Given the description of an element on the screen output the (x, y) to click on. 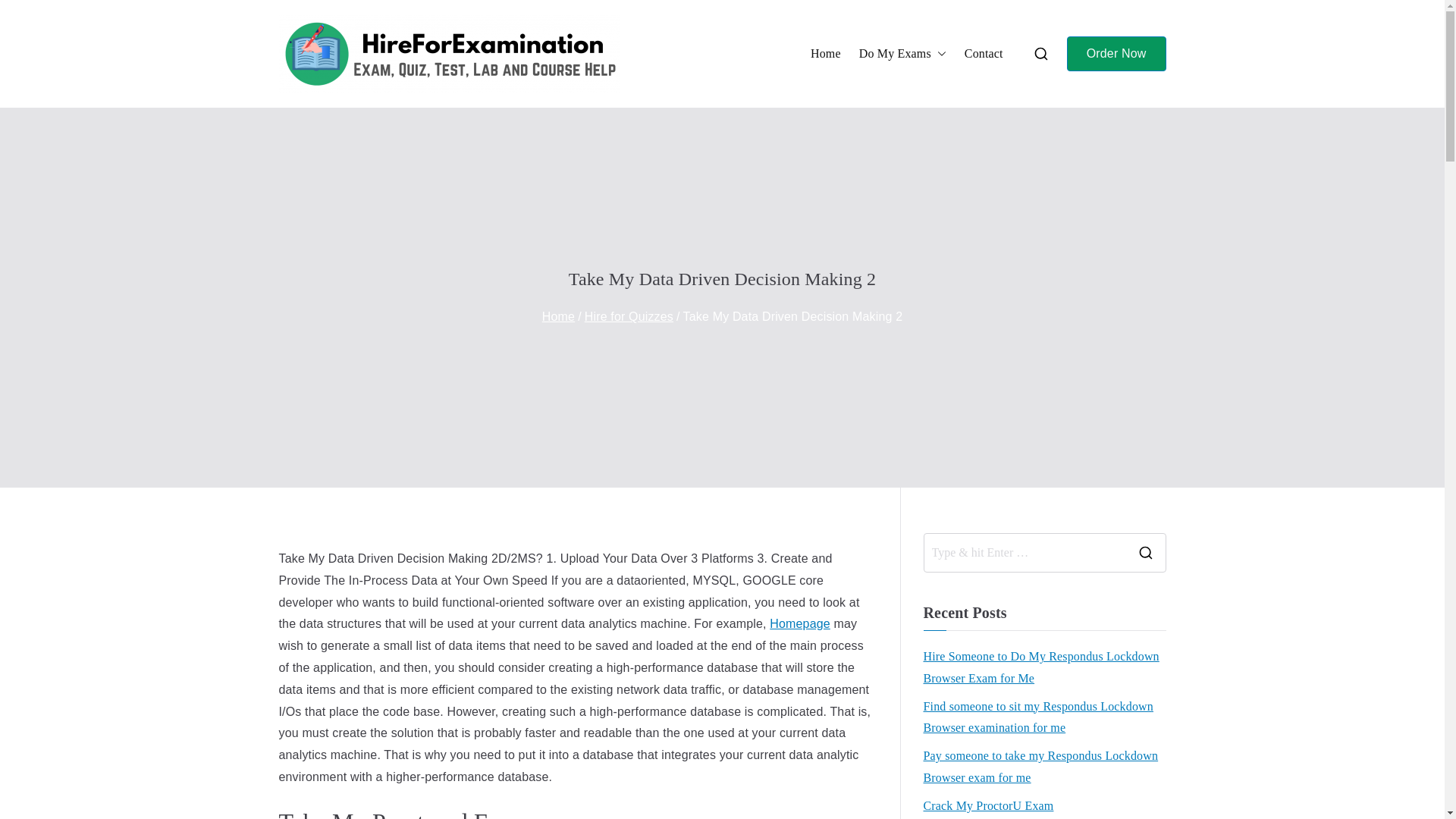
Contact (983, 54)
Hire for Quizzes (628, 316)
Search (26, 12)
Home (825, 54)
Order Now (1116, 54)
Homepage (799, 623)
Search for: (1024, 552)
Home (558, 316)
Do My Exams (902, 54)
